Given the description of an element on the screen output the (x, y) to click on. 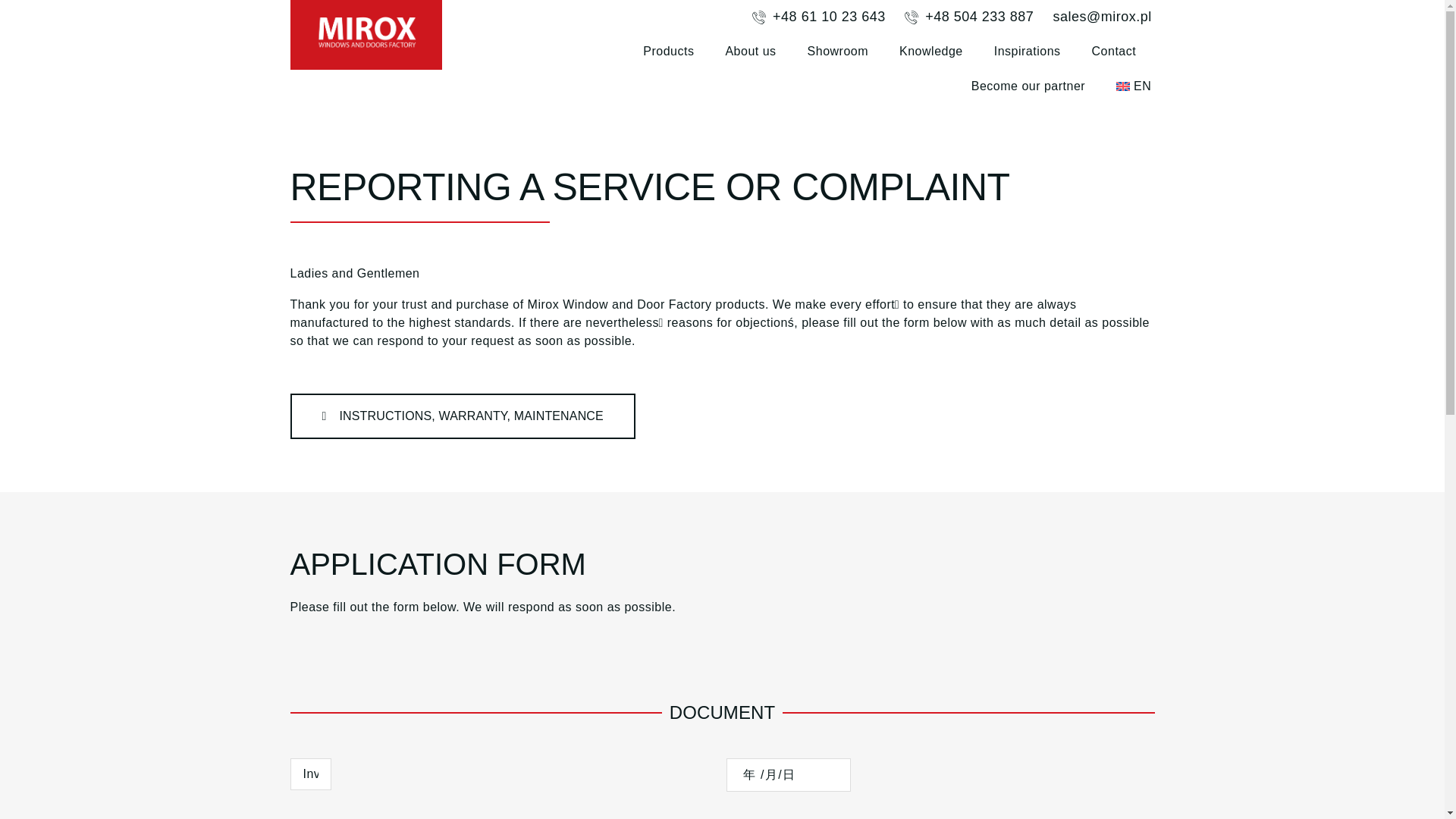
Products (668, 51)
About us (750, 51)
Become our partner (1027, 86)
EN (1133, 86)
Contact (1114, 51)
Knowledge (930, 51)
Inspirations (1027, 51)
EN (1133, 86)
Showroom (837, 51)
